Given the description of an element on the screen output the (x, y) to click on. 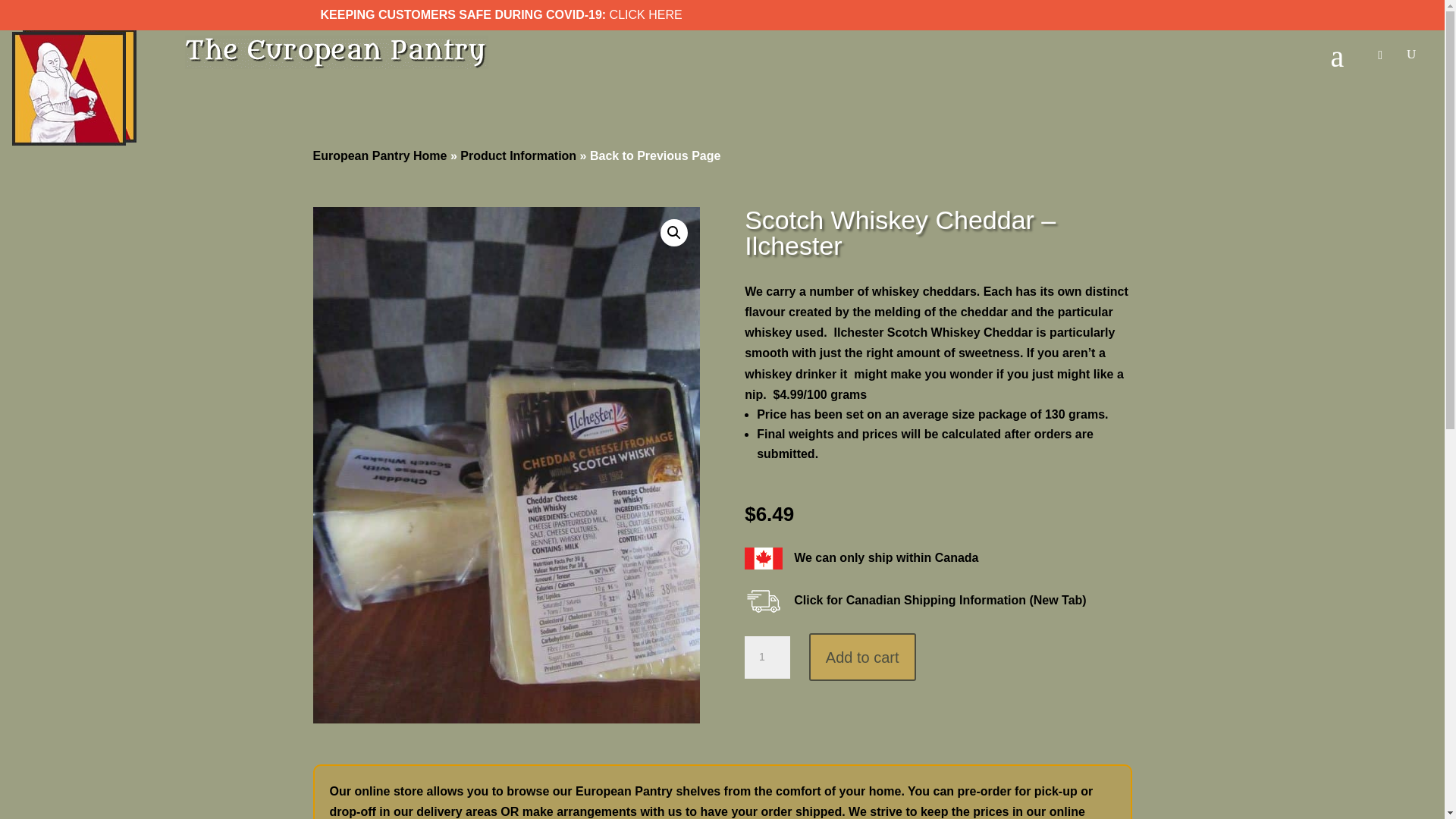
1 (767, 657)
CLICK HERE (646, 14)
